Given the description of an element on the screen output the (x, y) to click on. 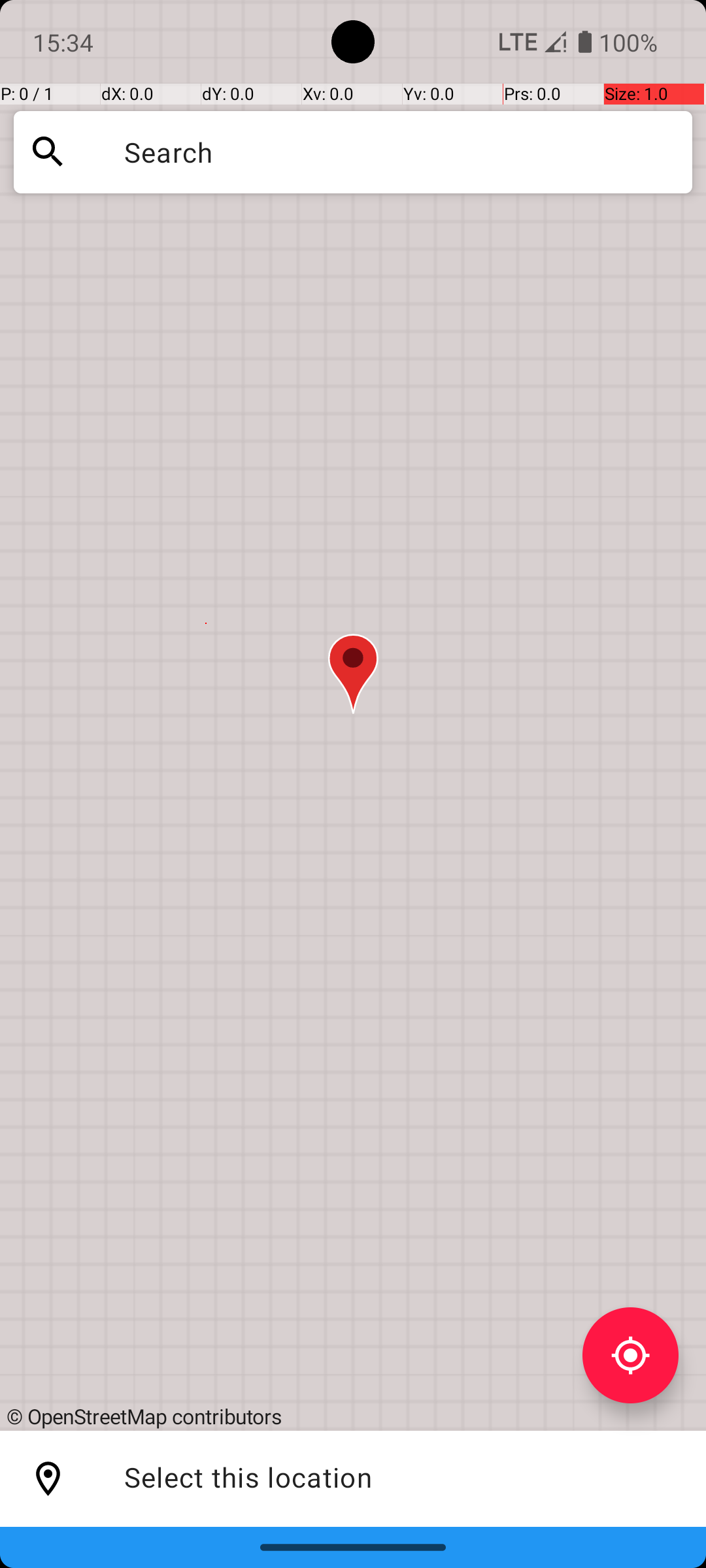
Select this location Element type: android.widget.ImageView (47, 1478)
